Given the description of an element on the screen output the (x, y) to click on. 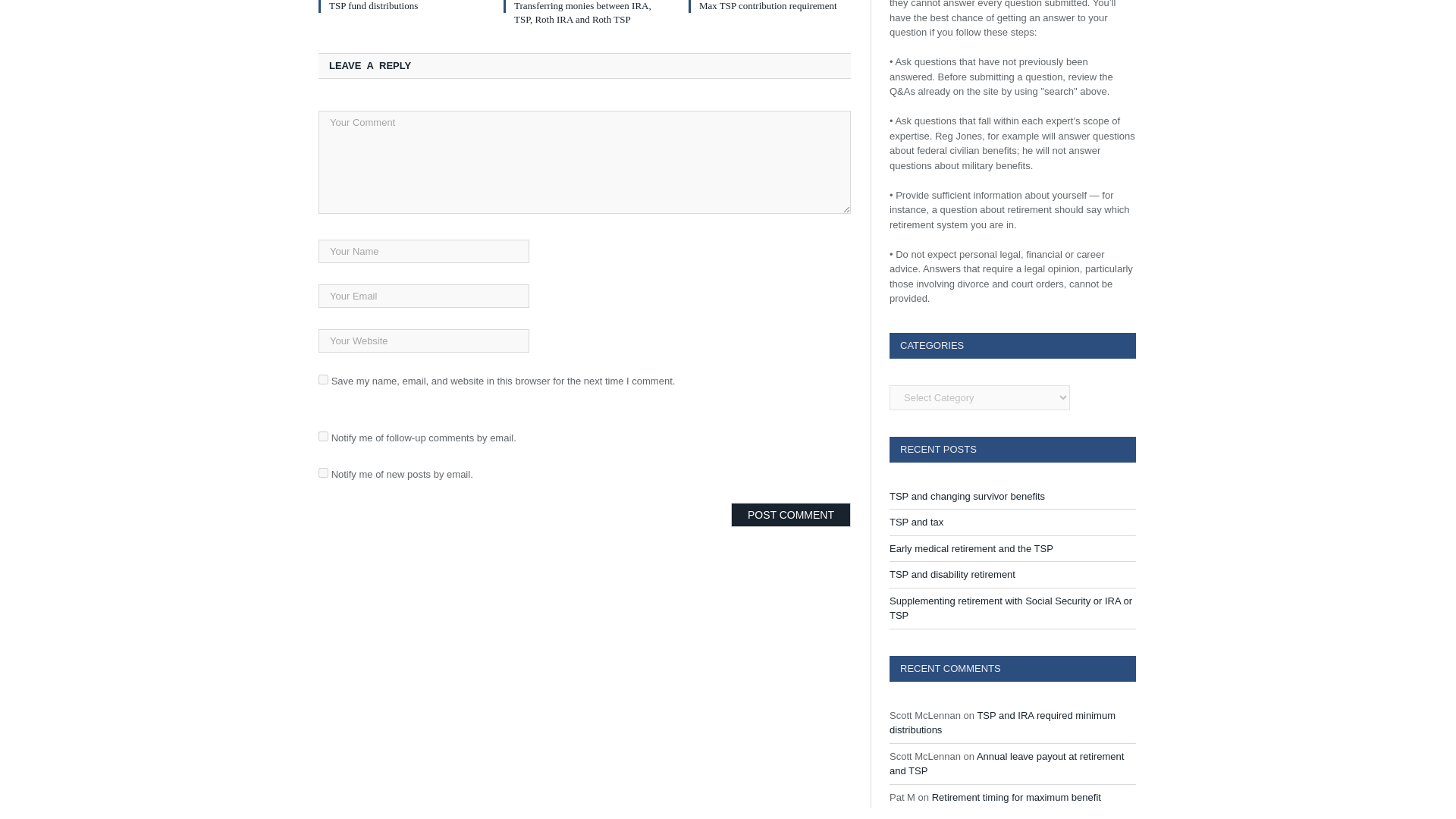
yes (323, 379)
subscribe (323, 436)
subscribe (323, 472)
Post Comment (790, 514)
TSP fund distributions (373, 5)
